Given the description of an element on the screen output the (x, y) to click on. 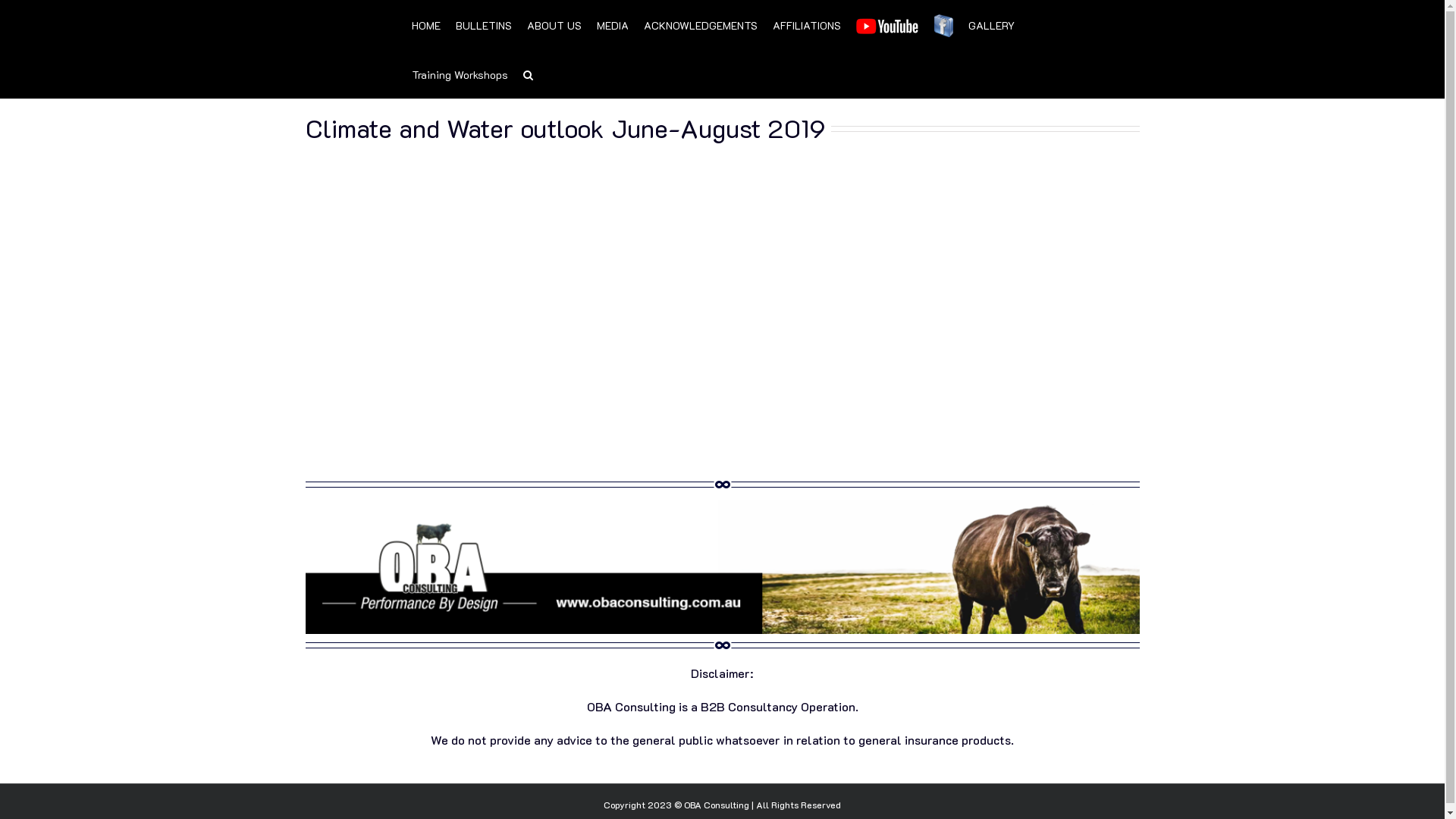
AFFILIATIONS Element type: text (805, 24)
YouTube video player Element type: hover (721, 305)
Search Element type: hover (528, 73)
ABOUT US Element type: text (553, 24)
OBA Footer Element type: hover (721, 564)
BULLETINS Element type: text (483, 24)
Training Workshops Element type: text (459, 73)
GALLERY Element type: text (991, 24)
ACKNOWLEDGEMENTS Element type: text (699, 24)
HOME Element type: text (425, 24)
MEDIA Element type: text (611, 24)
